Given the description of an element on the screen output the (x, y) to click on. 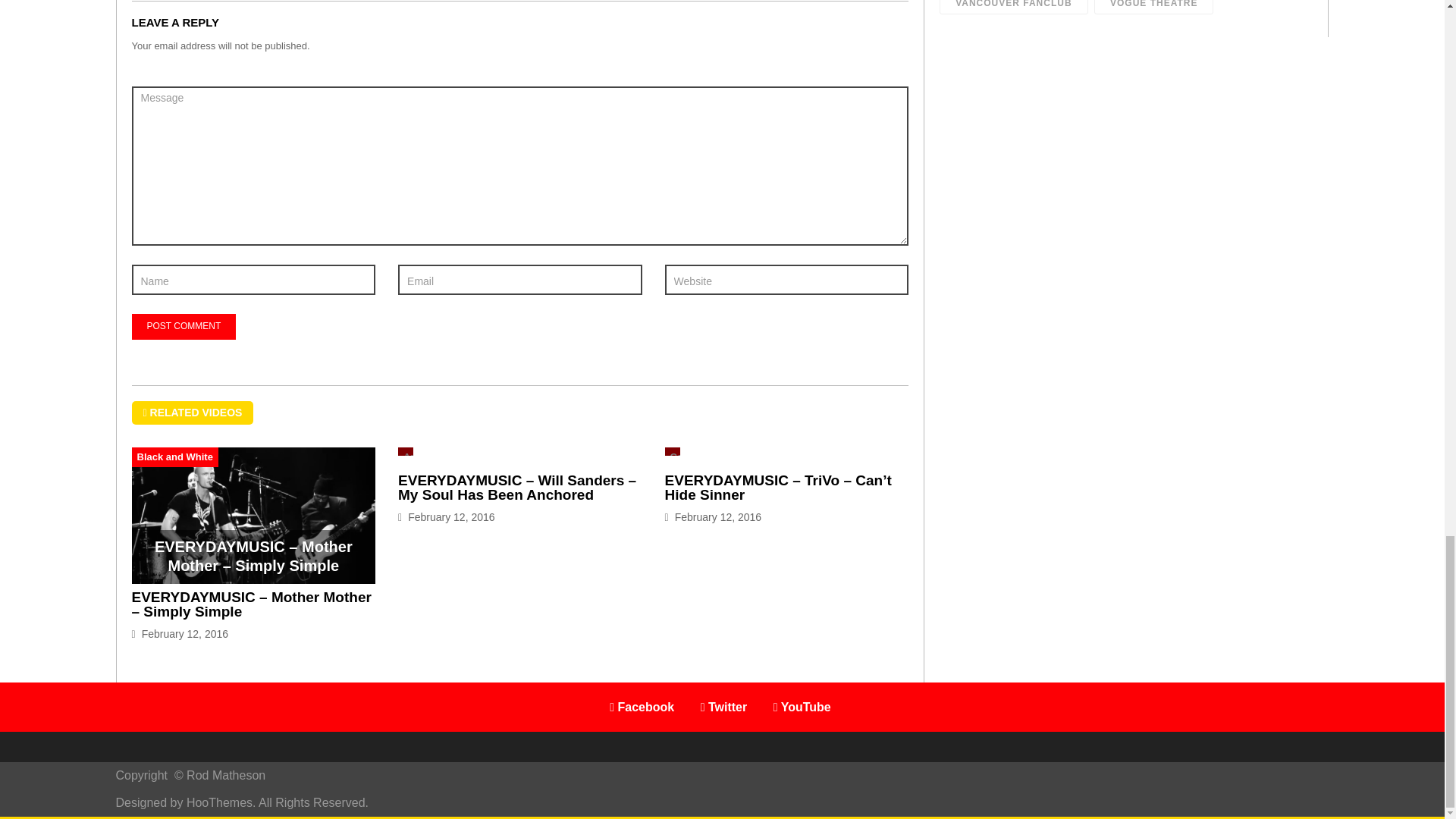
Post Comment (183, 326)
Post Comment (183, 326)
